Given the description of an element on the screen output the (x, y) to click on. 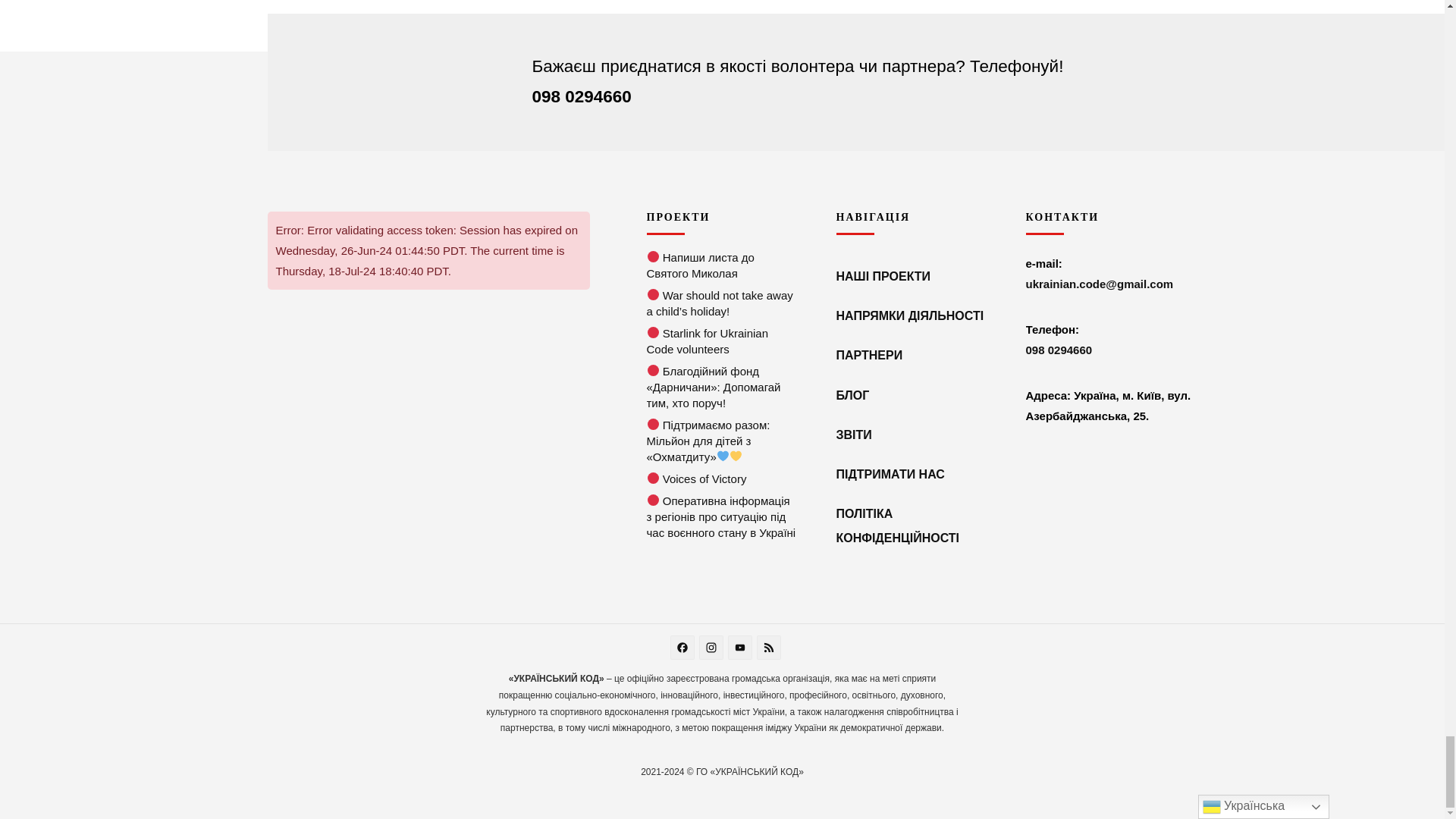
Voices of Victory (654, 478)
Facebook (683, 649)
Starlink for Ukrainian Code volunteers (654, 332)
